Given the description of an element on the screen output the (x, y) to click on. 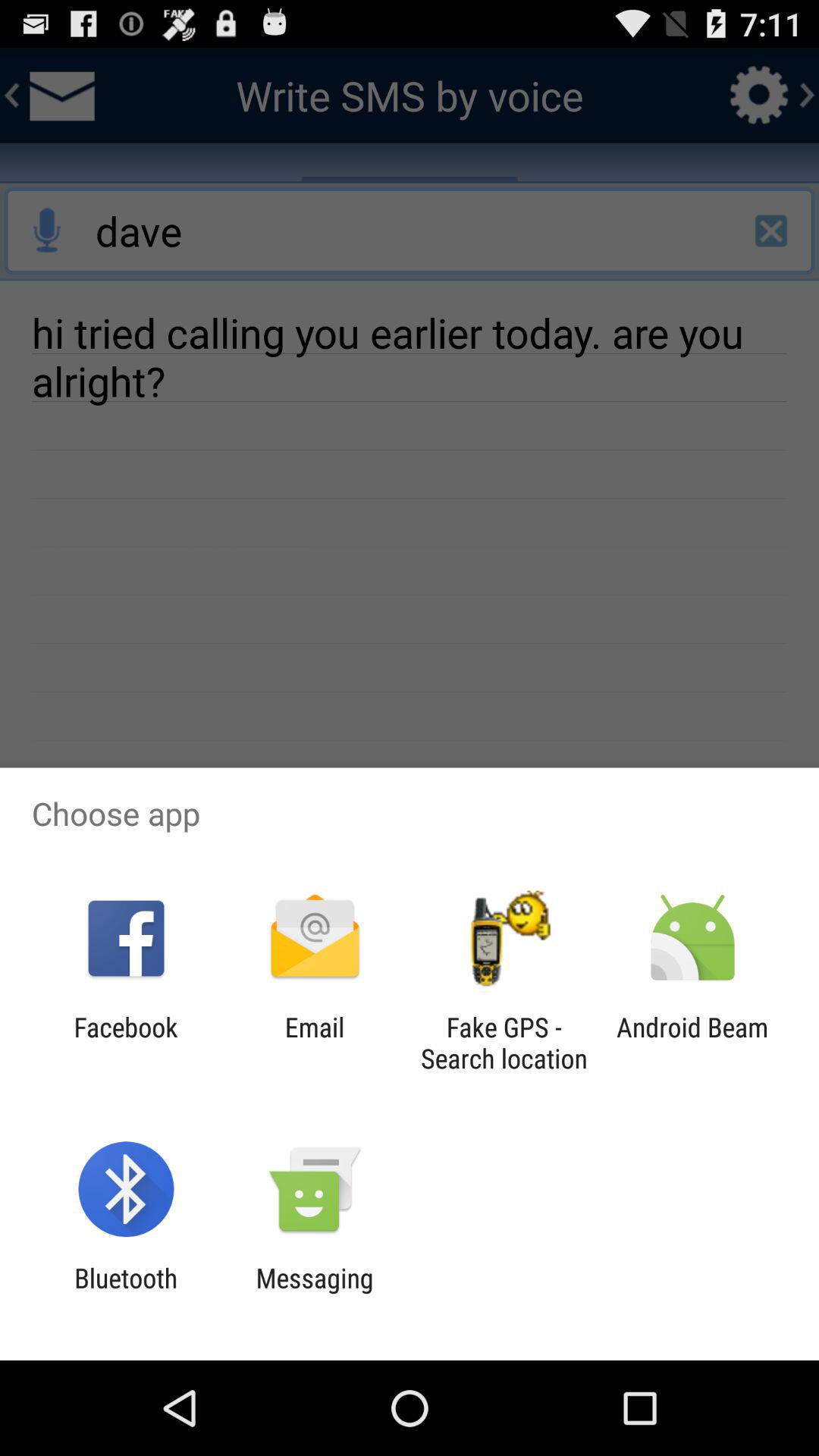
open app next to bluetooth (314, 1293)
